Given the description of an element on the screen output the (x, y) to click on. 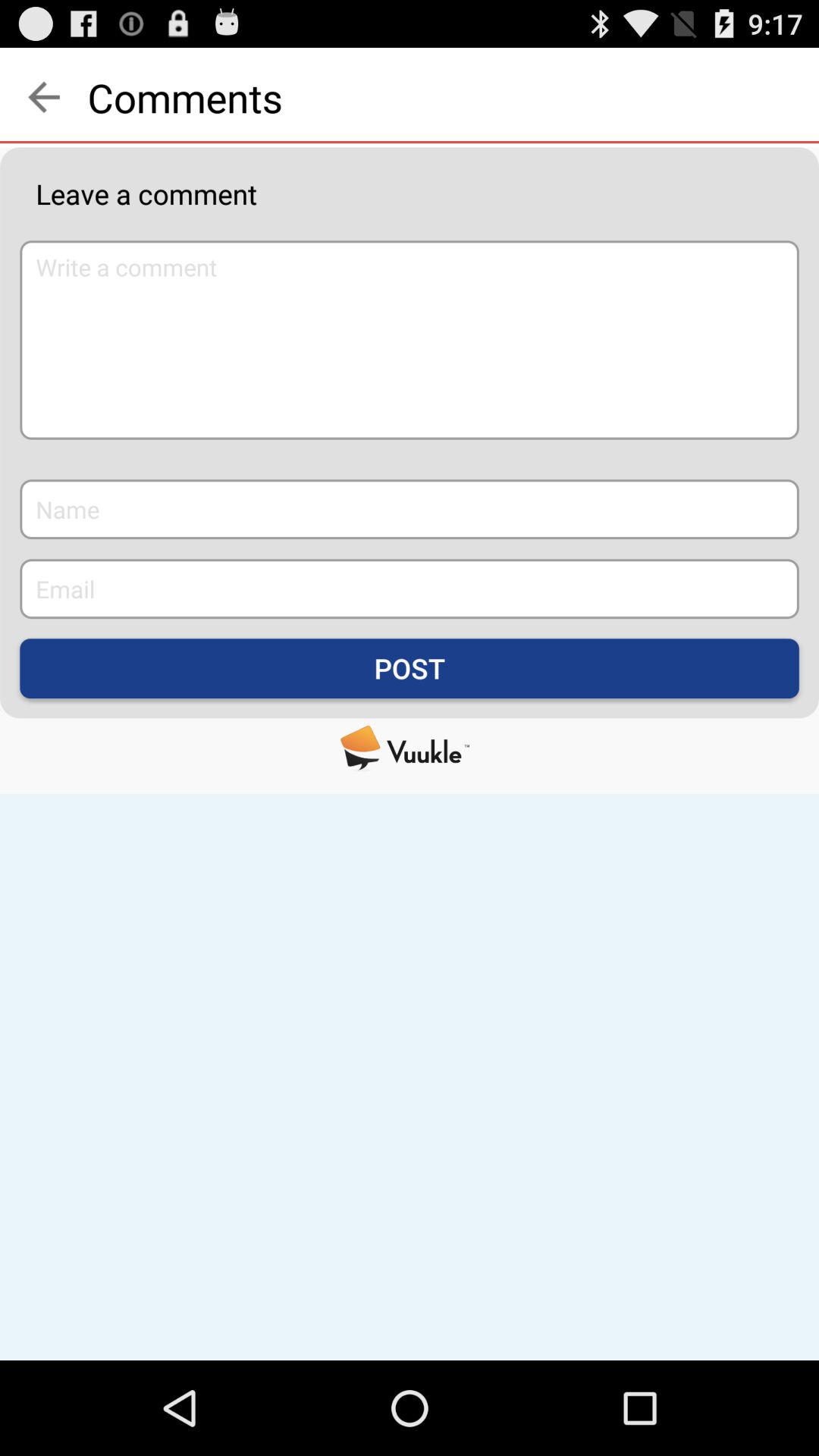
visit the vuukle website (409, 748)
